Given the description of an element on the screen output the (x, y) to click on. 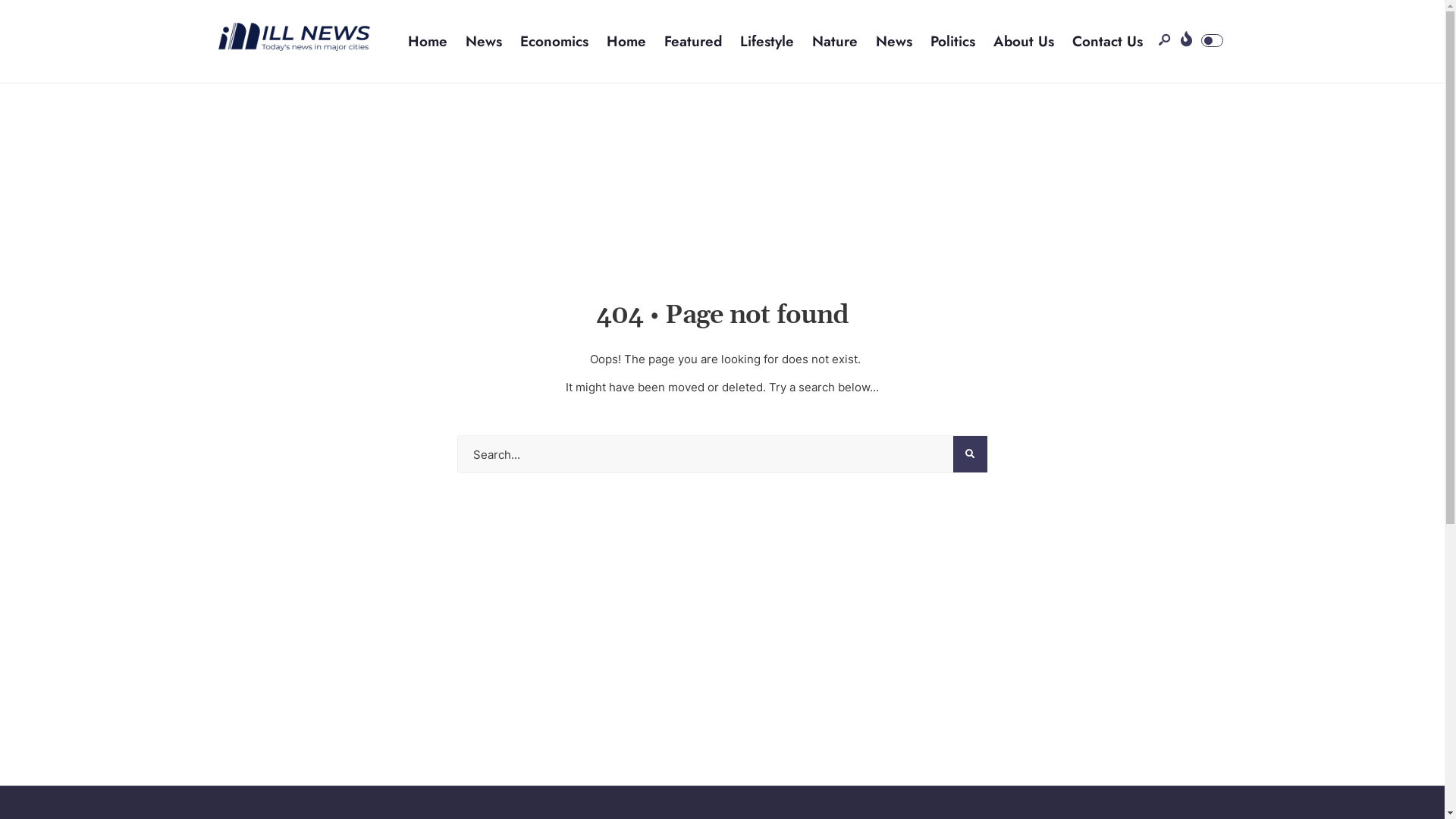
Featured Element type: text (692, 40)
Economics Element type: text (554, 40)
About Us Element type: text (1023, 40)
Lifestyle Element type: text (766, 40)
Contact Us Element type: text (1107, 40)
Nature Element type: text (834, 40)
News Element type: text (483, 40)
Home Element type: text (427, 40)
News Element type: text (893, 40)
Politics Element type: text (952, 40)
Home Element type: text (626, 40)
